Given the description of an element on the screen output the (x, y) to click on. 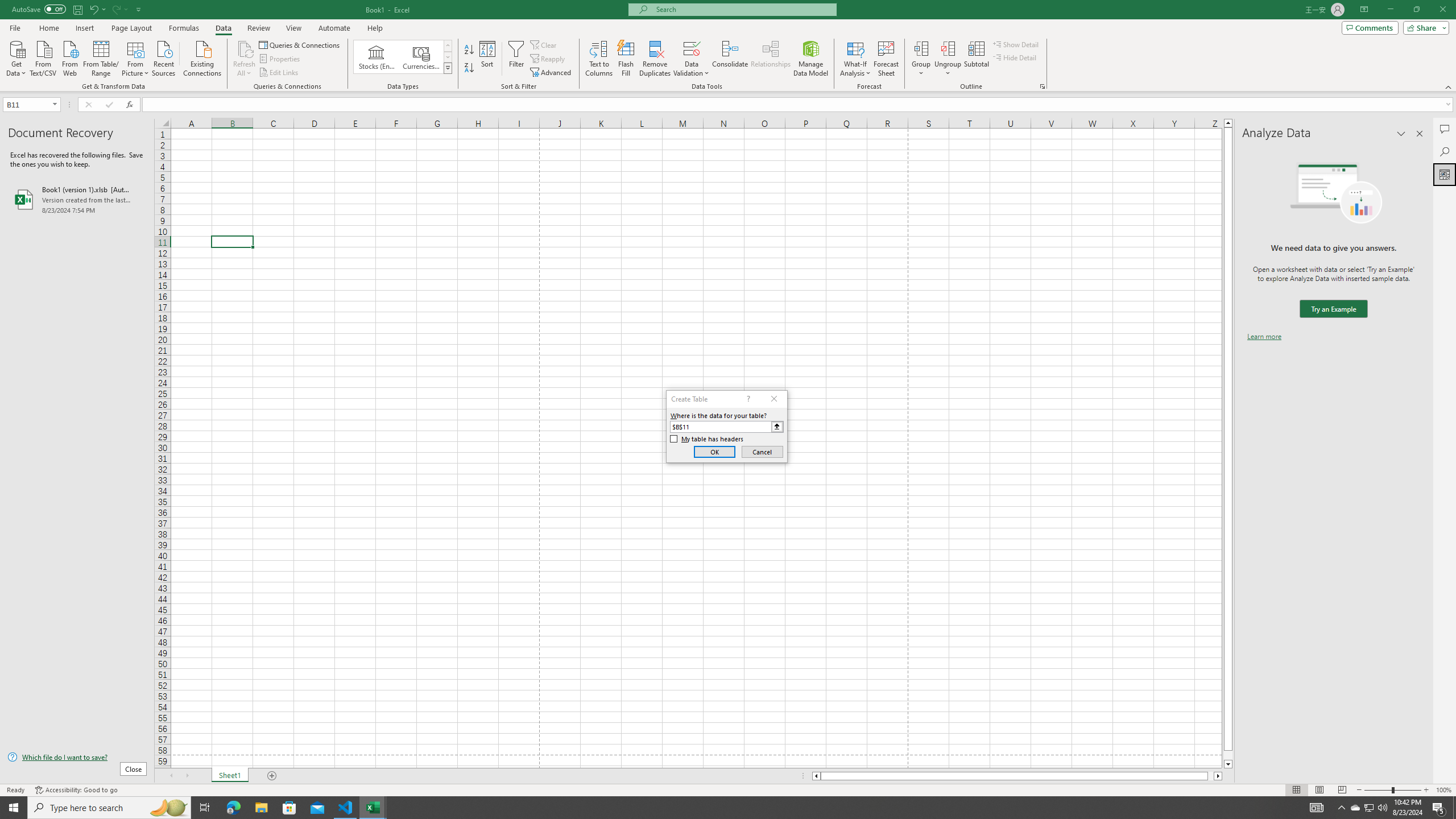
Page down (1228, 755)
Open (54, 104)
Close (1442, 9)
Restore Down (1416, 9)
Hide Detail (1014, 56)
Redo (119, 9)
Page right (1211, 775)
Relationships (770, 58)
Ungroup... (947, 58)
Remove Duplicates (654, 58)
Currencies (English) (420, 56)
Save (77, 9)
Quick Access Toolbar (77, 9)
Class: MsoCommandBar (728, 45)
